Given the description of an element on the screen output the (x, y) to click on. 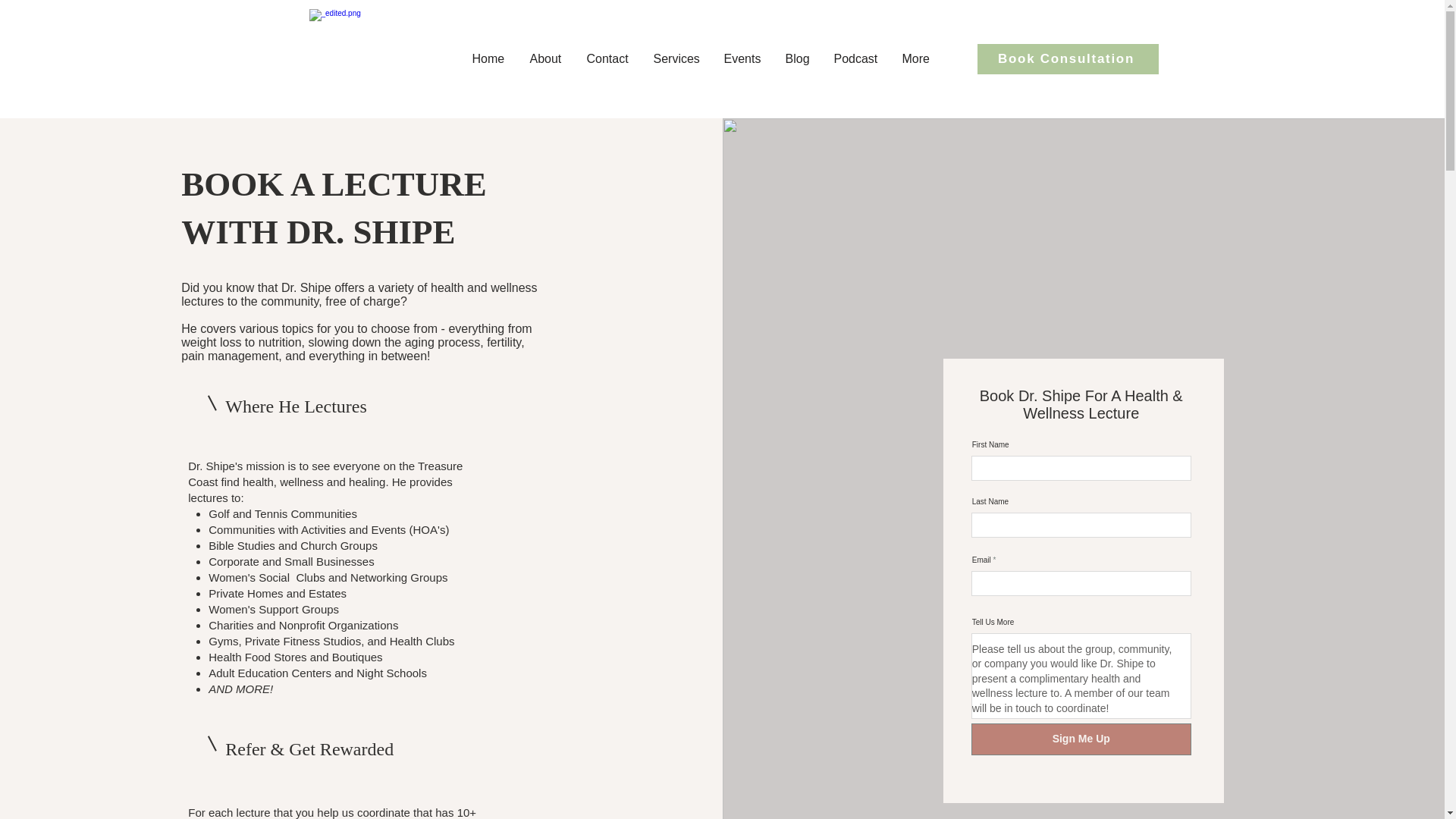
Blog (797, 59)
Sign Me Up (1081, 739)
About (546, 59)
Podcast (855, 59)
Home (489, 59)
Events (743, 59)
Book Consultation (1066, 59)
Contact (608, 59)
